Given the description of an element on the screen output the (x, y) to click on. 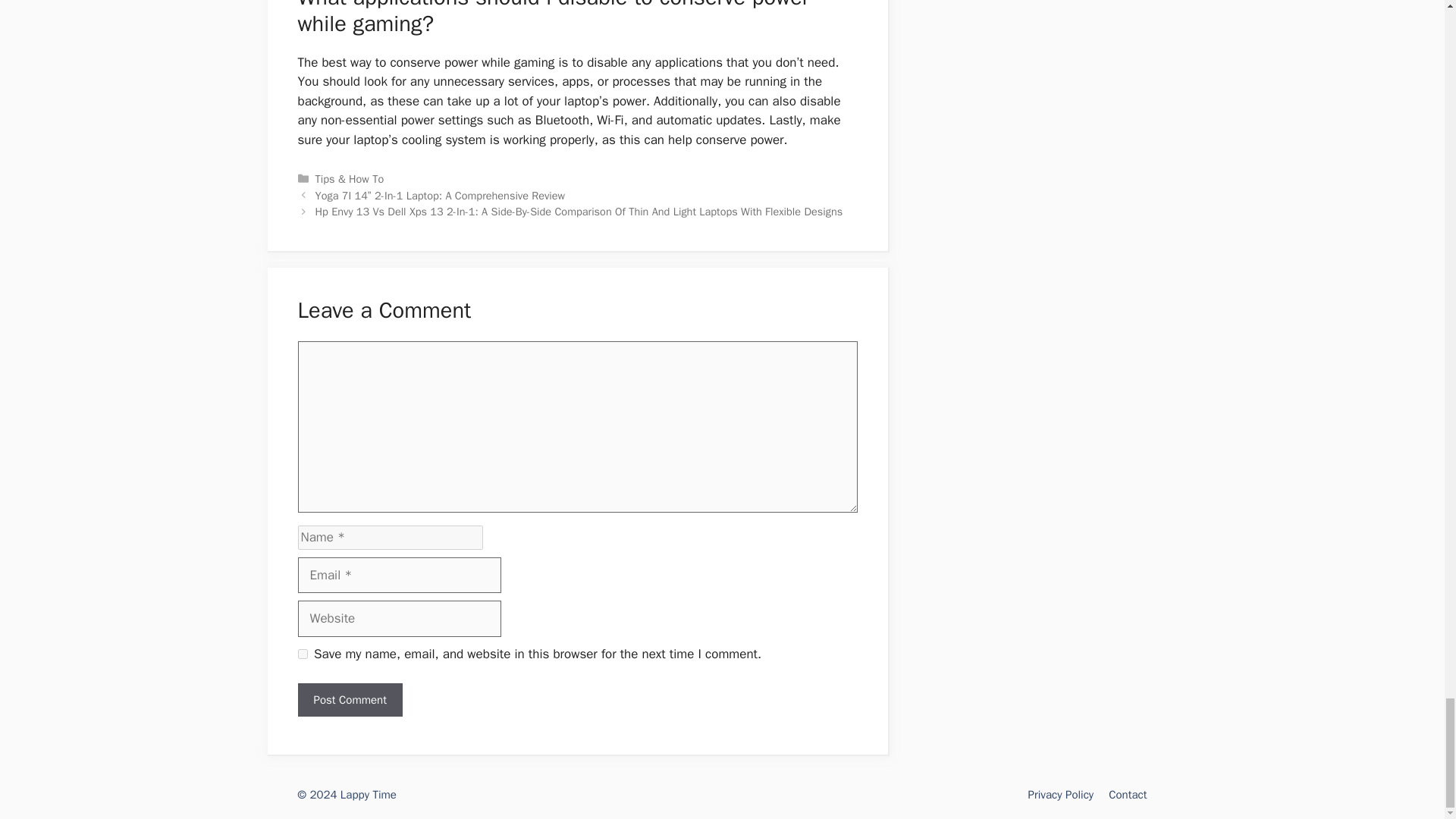
Post Comment (349, 700)
Post Comment (349, 700)
Privacy Policy (1060, 794)
yes (302, 654)
Contact (1127, 794)
